Given the description of an element on the screen output the (x, y) to click on. 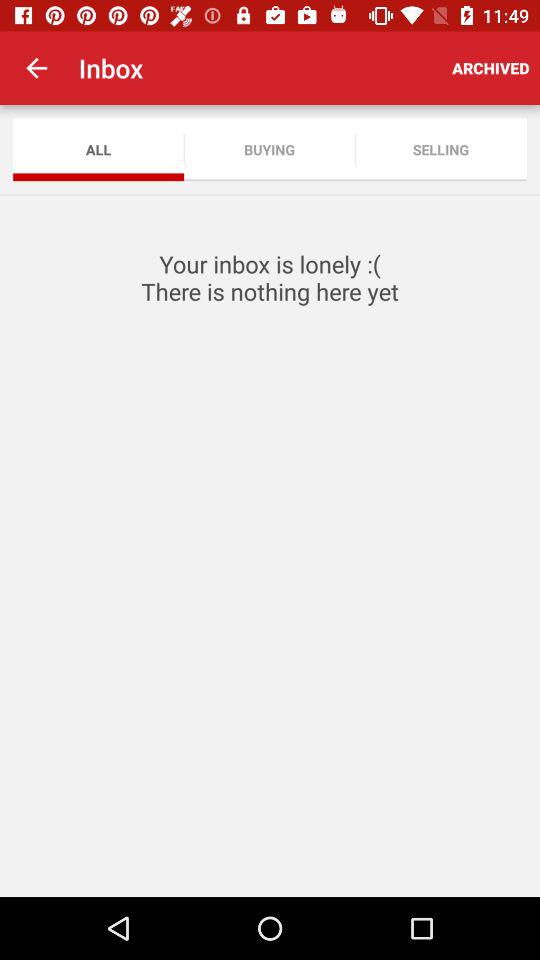
tap the item to the left of inbox (36, 68)
